Given the description of an element on the screen output the (x, y) to click on. 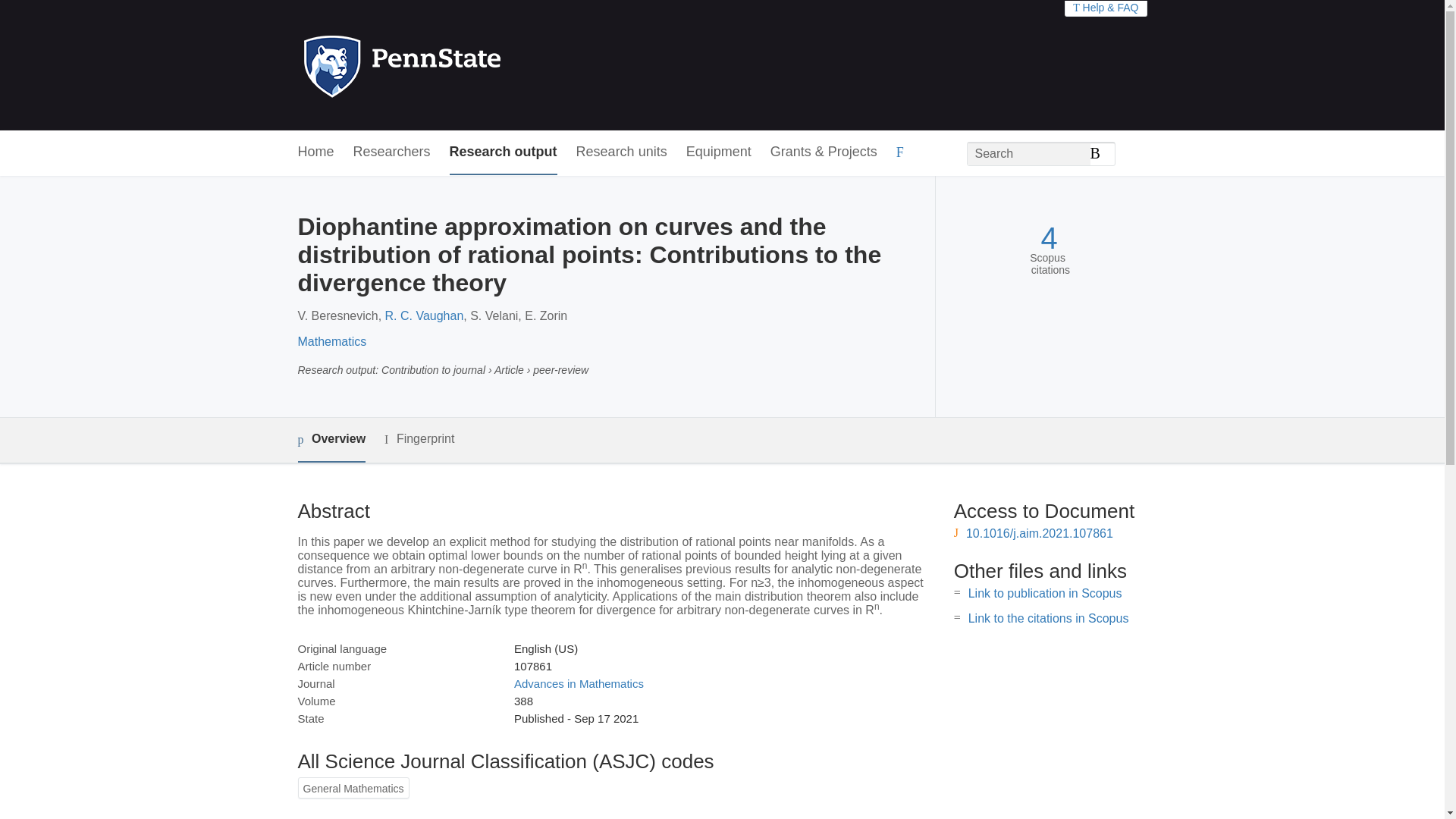
Penn State Home (467, 65)
Home (315, 152)
Researchers (391, 152)
Research units (621, 152)
Fingerprint (419, 439)
Equipment (718, 152)
Link to the citations in Scopus (1048, 617)
Research output (503, 152)
Link to publication in Scopus (1045, 593)
4 (1049, 238)
Advances in Mathematics (578, 683)
Overview (331, 439)
Mathematics (331, 341)
R. C. Vaughan (424, 315)
